Given the description of an element on the screen output the (x, y) to click on. 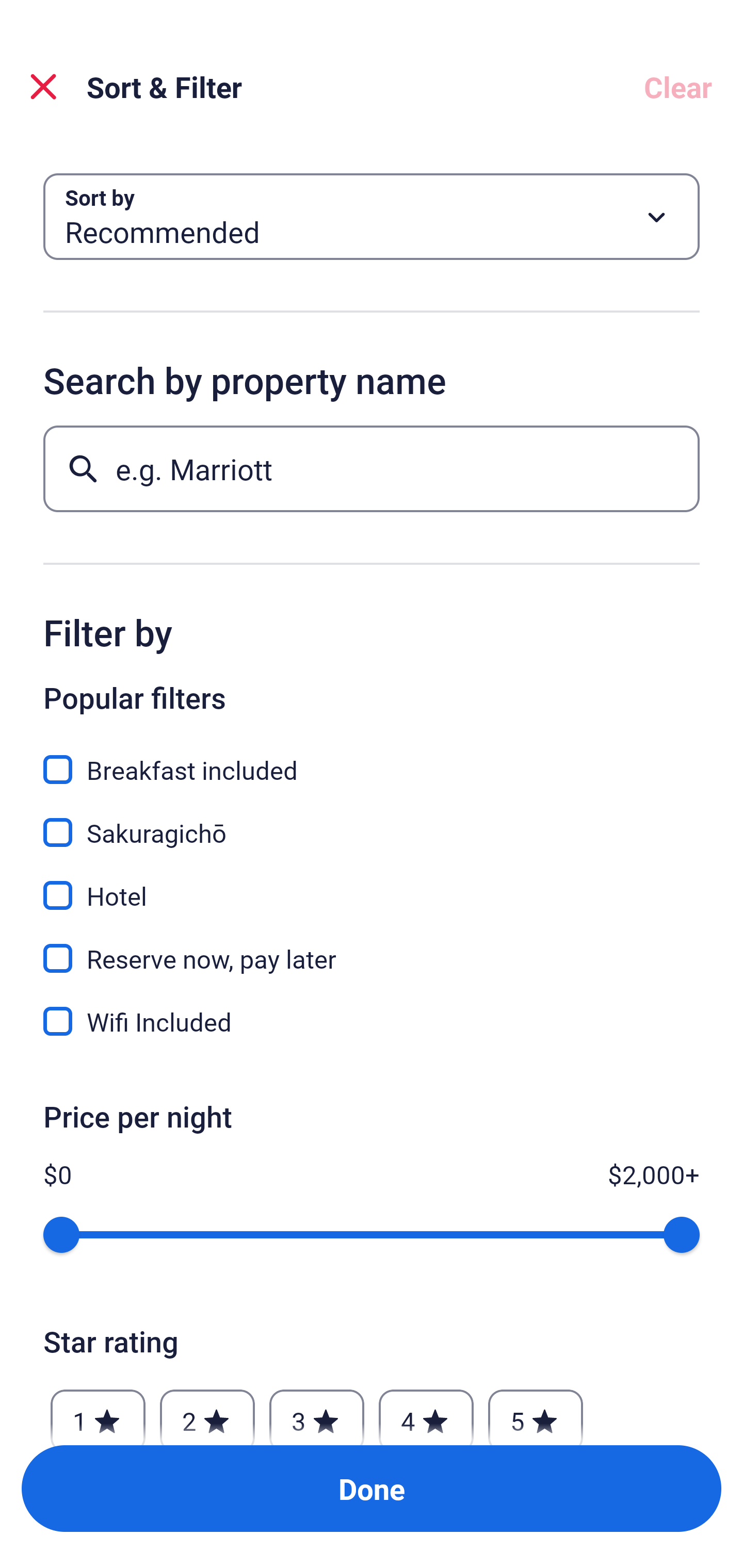
Close Sort and Filter (43, 86)
Clear (677, 86)
Sort by Button Recommended (371, 217)
e.g. Marriott Button (371, 468)
Breakfast included, Breakfast included (371, 757)
Sakuragichō, Sakuragichō (371, 821)
Hotel, Hotel (371, 883)
Reserve now, pay later, Reserve now, pay later (371, 946)
Wifi Included, Wifi Included (371, 1021)
1 (97, 1411)
2 (206, 1411)
3 (316, 1411)
4 (426, 1411)
5 (535, 1411)
Apply and close Sort and Filter Done (371, 1488)
